Given the description of an element on the screen output the (x, y) to click on. 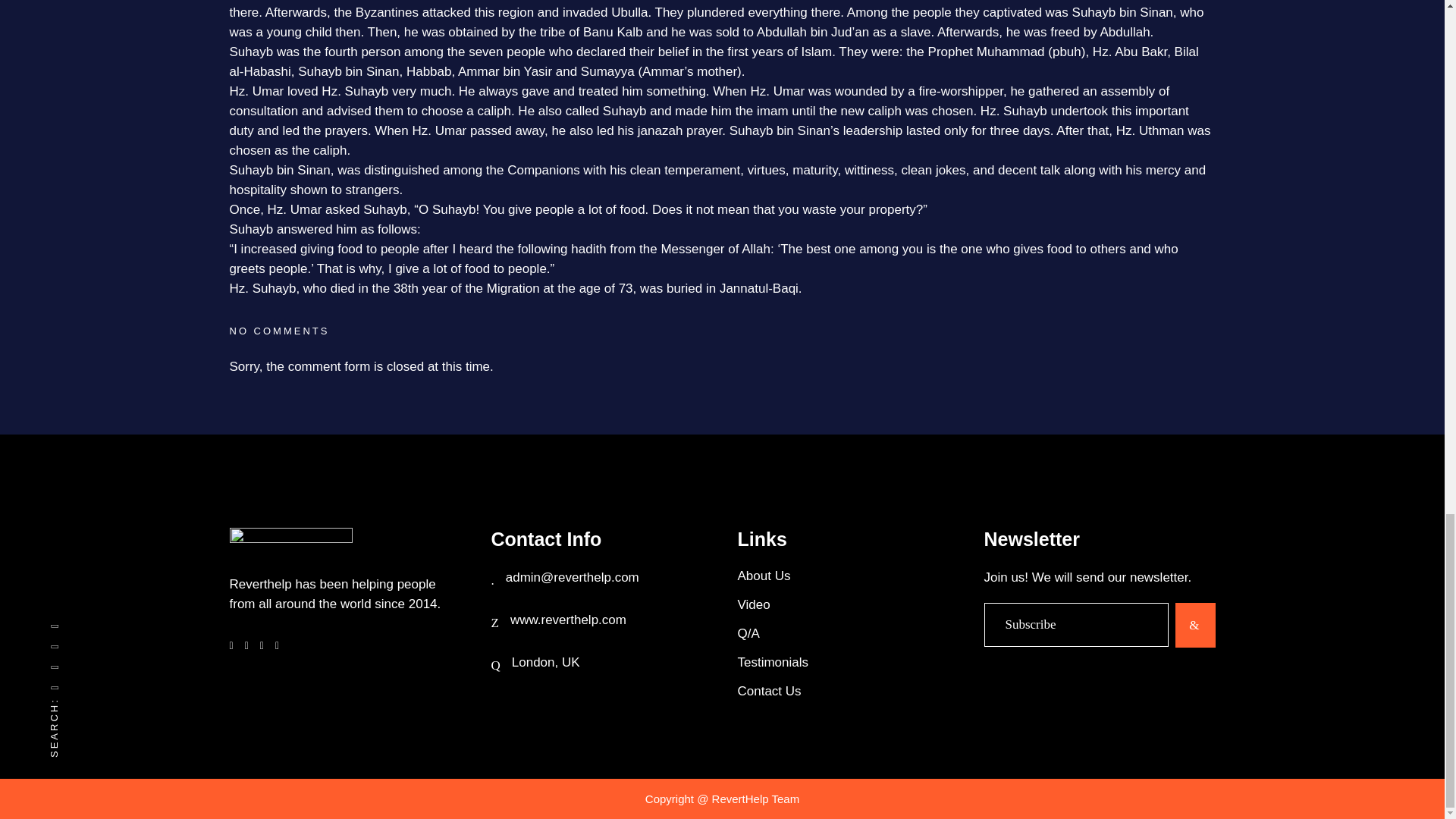
Video (849, 604)
About Us (849, 575)
Testimonials (849, 662)
Contact Us (849, 691)
